Given the description of an element on the screen output the (x, y) to click on. 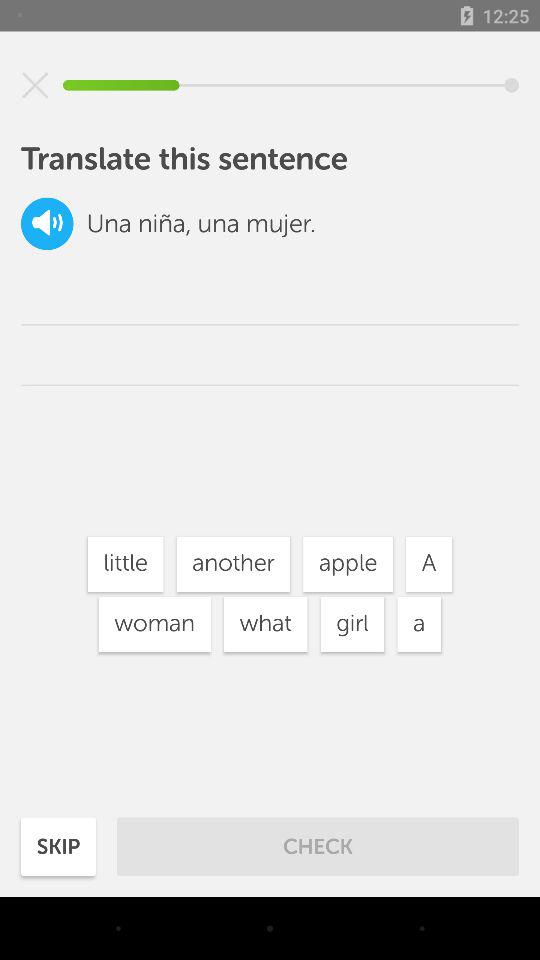
turn on icon below una item (125, 563)
